Given the description of an element on the screen output the (x, y) to click on. 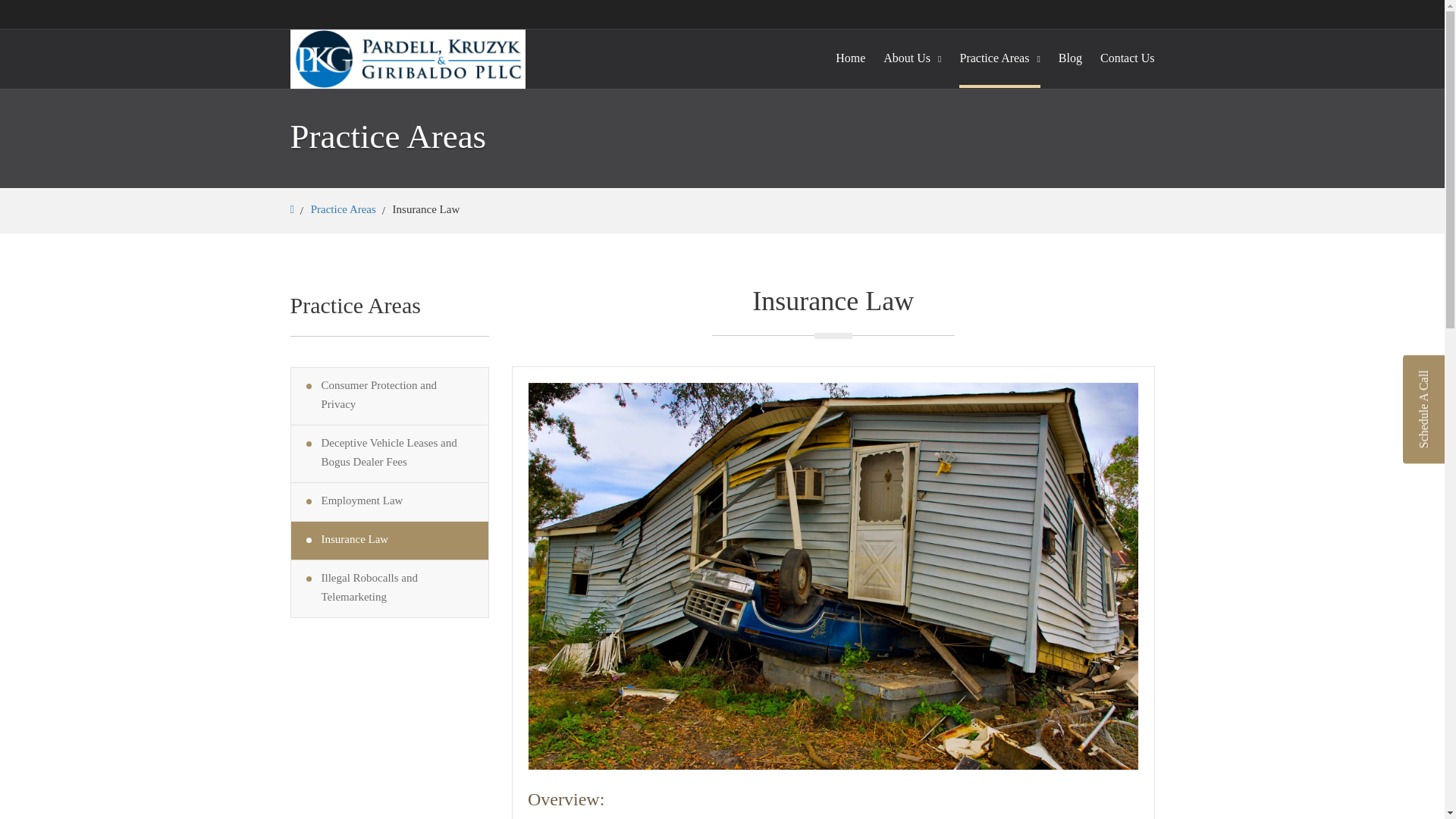
Insurance Law (390, 540)
Practice Areas (999, 58)
Contact Us (1127, 57)
Consumer Protection and Privacy (390, 396)
Illegal Robocalls and Telemarketing (390, 588)
Practice Areas (343, 209)
About Us (911, 58)
Employment Law (390, 501)
Deceptive Vehicle Leases and Bogus Dealer Fees (390, 453)
